Given the description of an element on the screen output the (x, y) to click on. 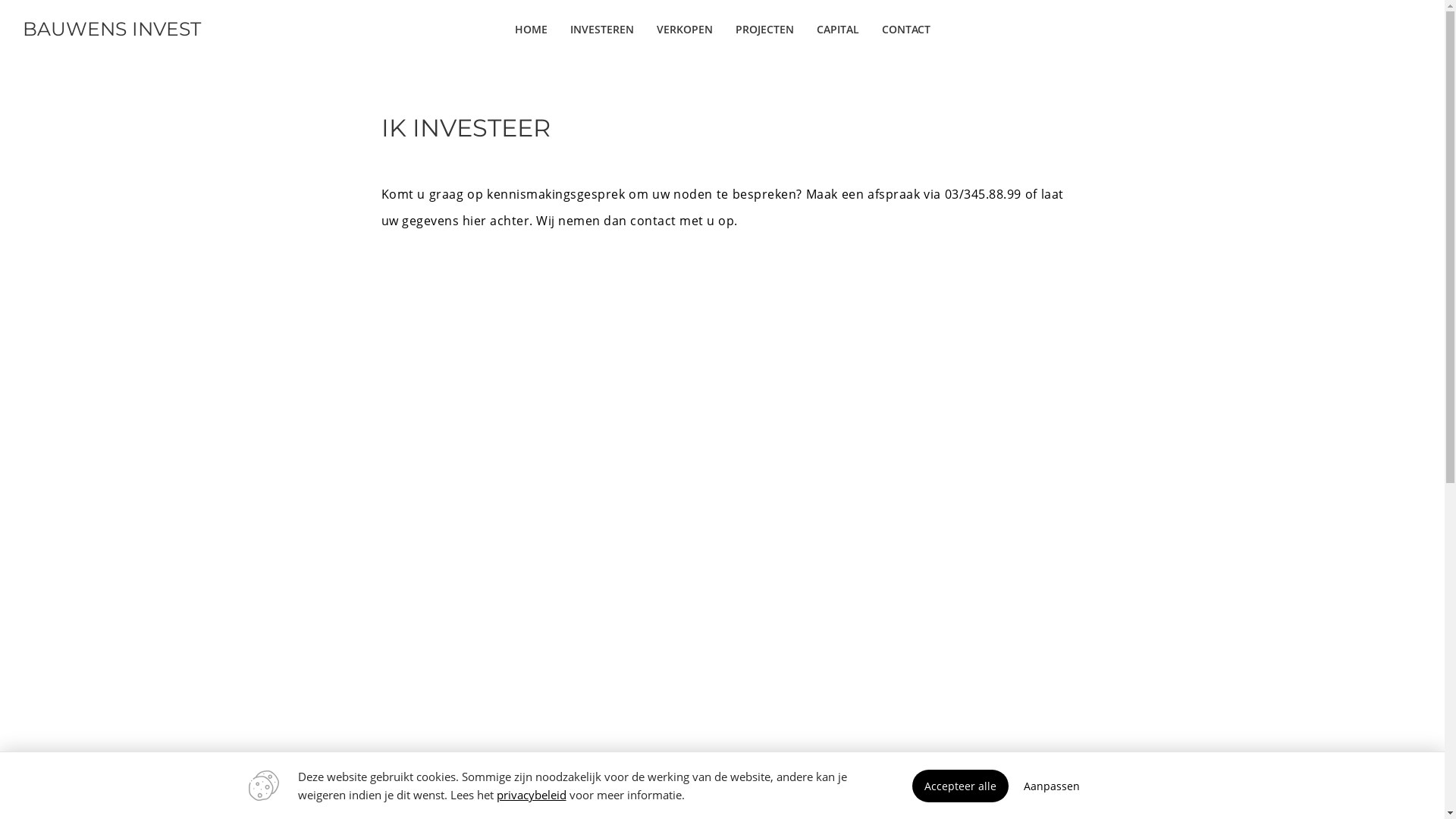
CONTACT Element type: text (906, 29)
HOME Element type: text (531, 29)
CAPITAL Element type: text (837, 29)
VERKOPEN Element type: text (683, 29)
PROJECTEN Element type: text (763, 29)
BAUWENS INVEST Element type: text (162, 28)
Aanpassen Element type: text (1051, 784)
Accepteer alle Element type: text (959, 784)
privacybeleid Element type: text (530, 794)
INVESTEREN Element type: text (601, 29)
